Given the description of an element on the screen output the (x, y) to click on. 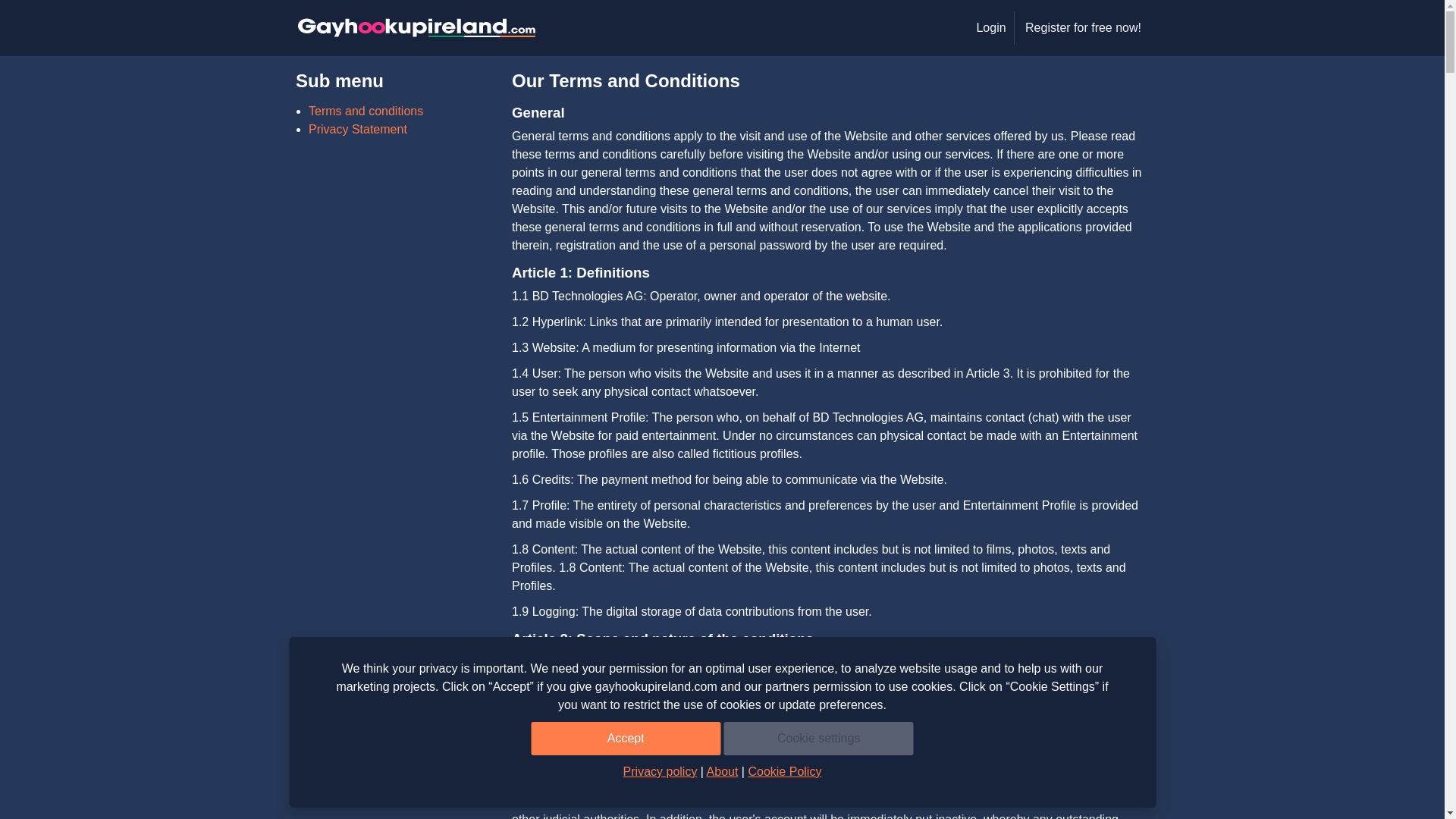
Login (990, 28)
Privacy Statement (357, 128)
Register for free now! (1082, 28)
Terms and conditions (365, 110)
